Given the description of an element on the screen output the (x, y) to click on. 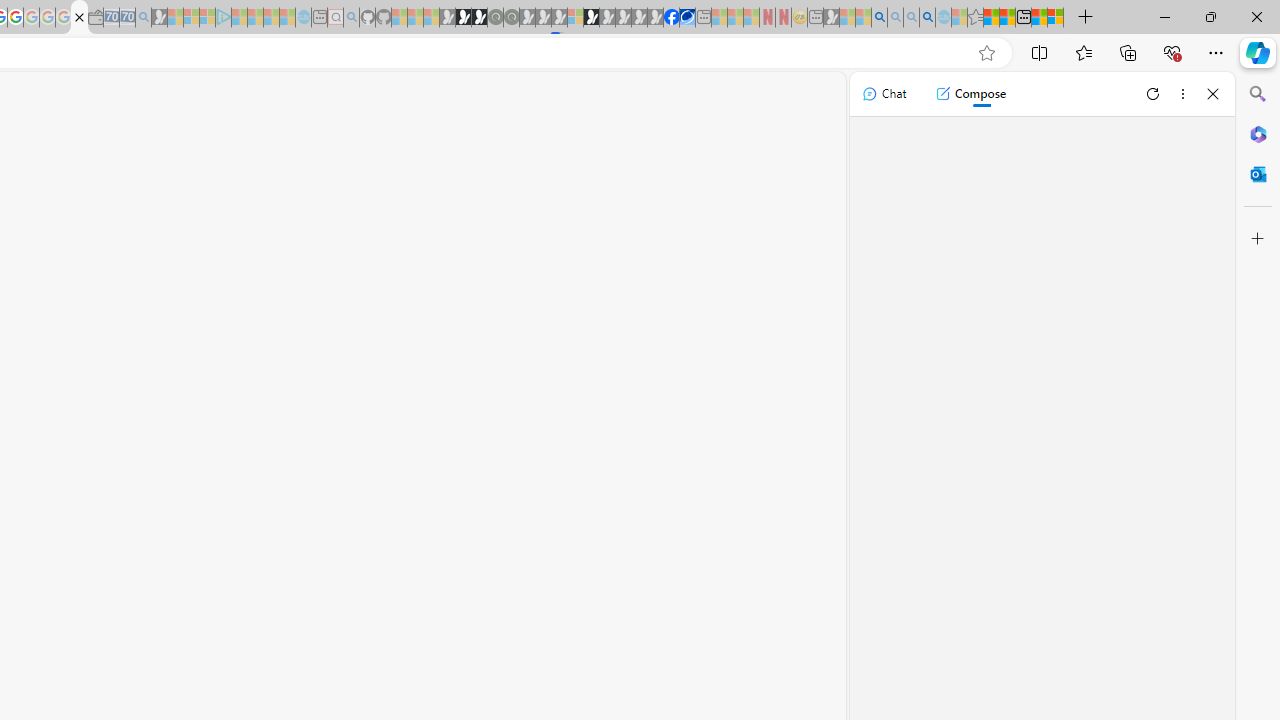
MSN - Sleeping (831, 17)
Future Focus Report 2024 - Sleeping (511, 17)
Nordace | Facebook (671, 17)
